Given the description of an element on the screen output the (x, y) to click on. 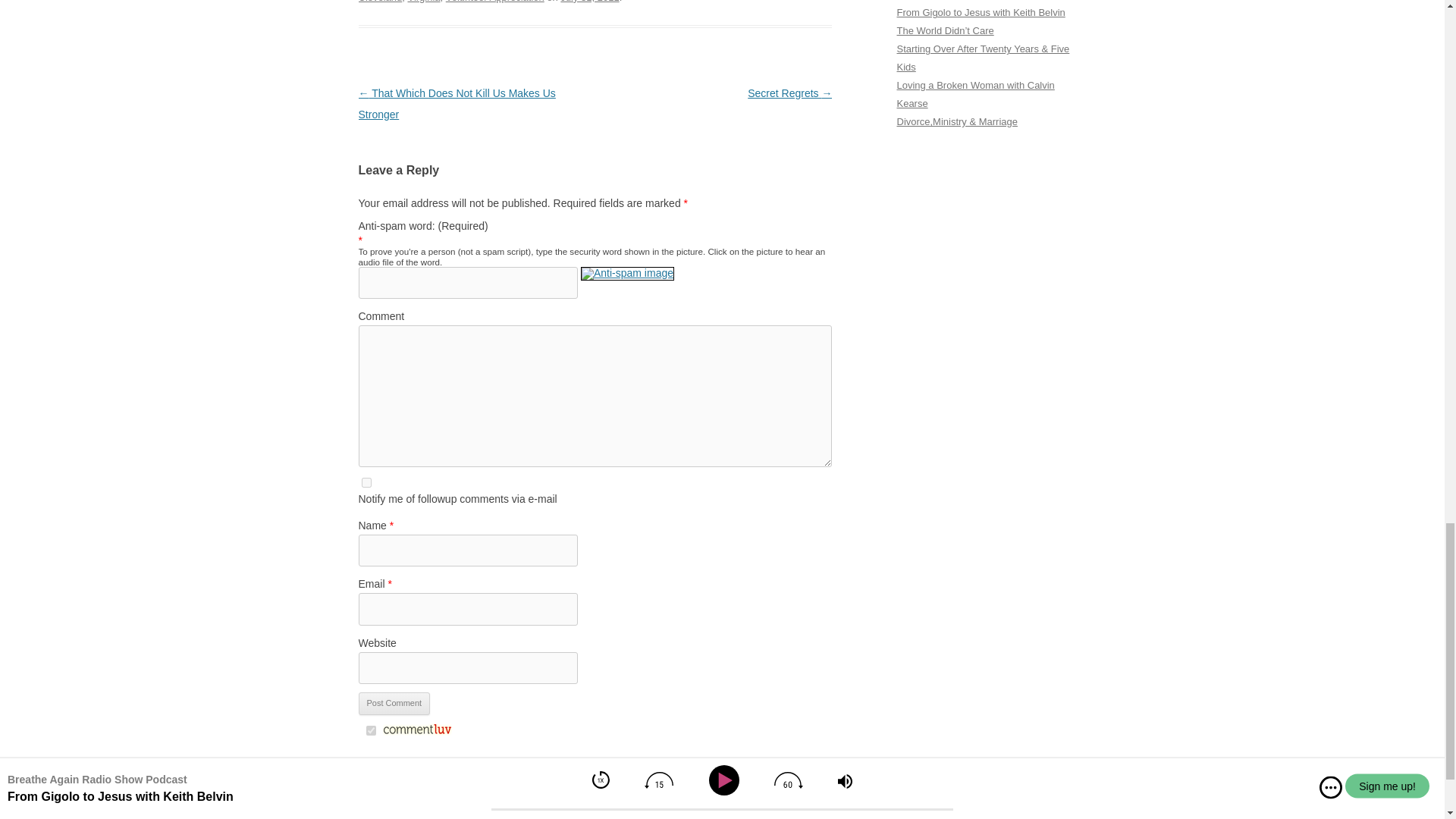
CommentLuv is enabled (416, 731)
on (370, 730)
Semantic Personal Publishing Platform (422, 816)
8:11 pm (589, 1)
Proudly powered by WordPress (422, 816)
Virginia (423, 1)
July 31, 2011 (589, 1)
Click to hear an audio file of the anti-spam word (627, 282)
Volunteer Appreciation (494, 1)
